Given the description of an element on the screen output the (x, y) to click on. 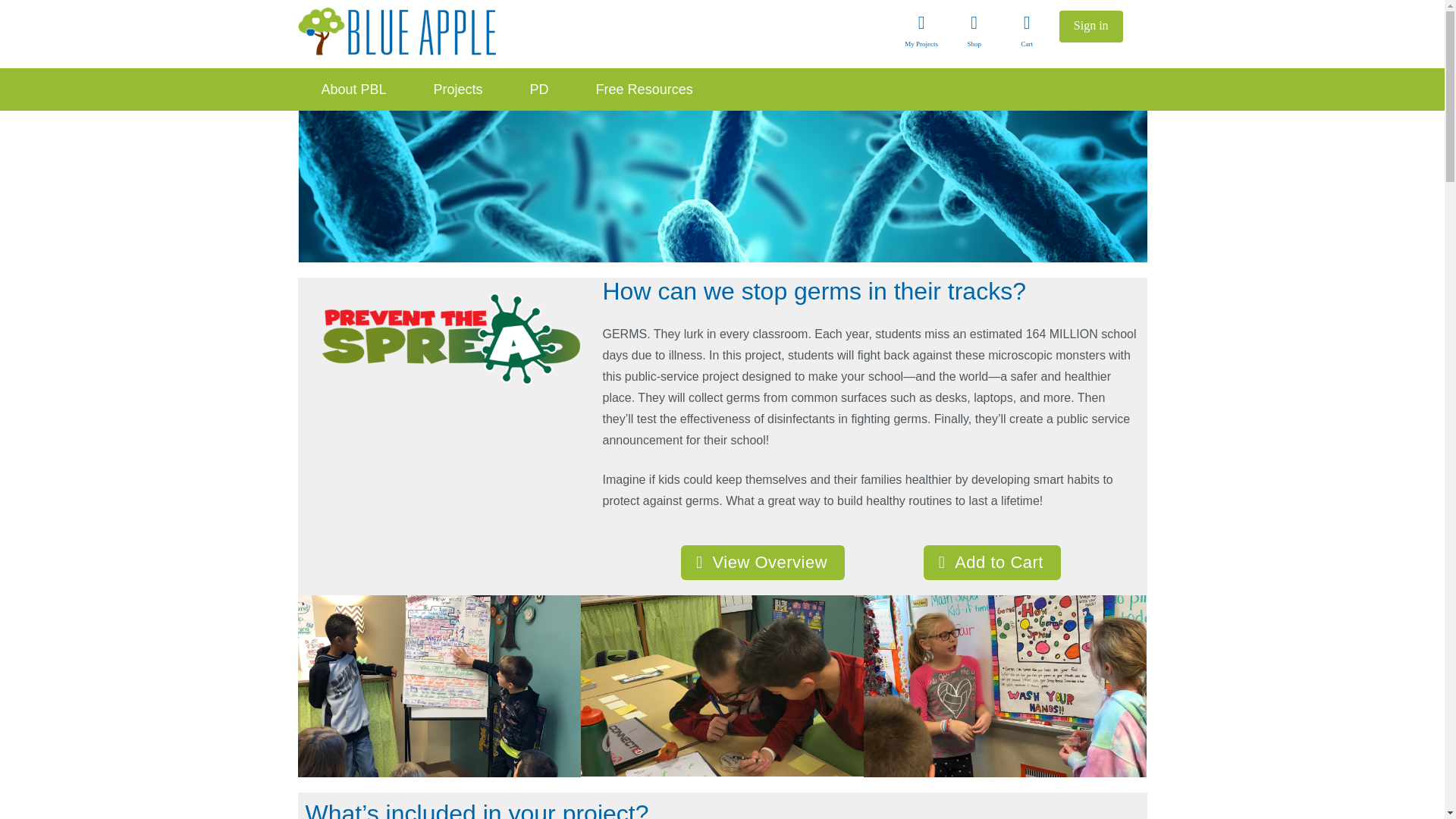
My Projects (920, 33)
Projects (458, 88)
Cart (1026, 33)
Sign in (1090, 26)
PD (539, 88)
About PBL (353, 88)
Shop (973, 33)
Free Resources (644, 88)
